Given the description of an element on the screen output the (x, y) to click on. 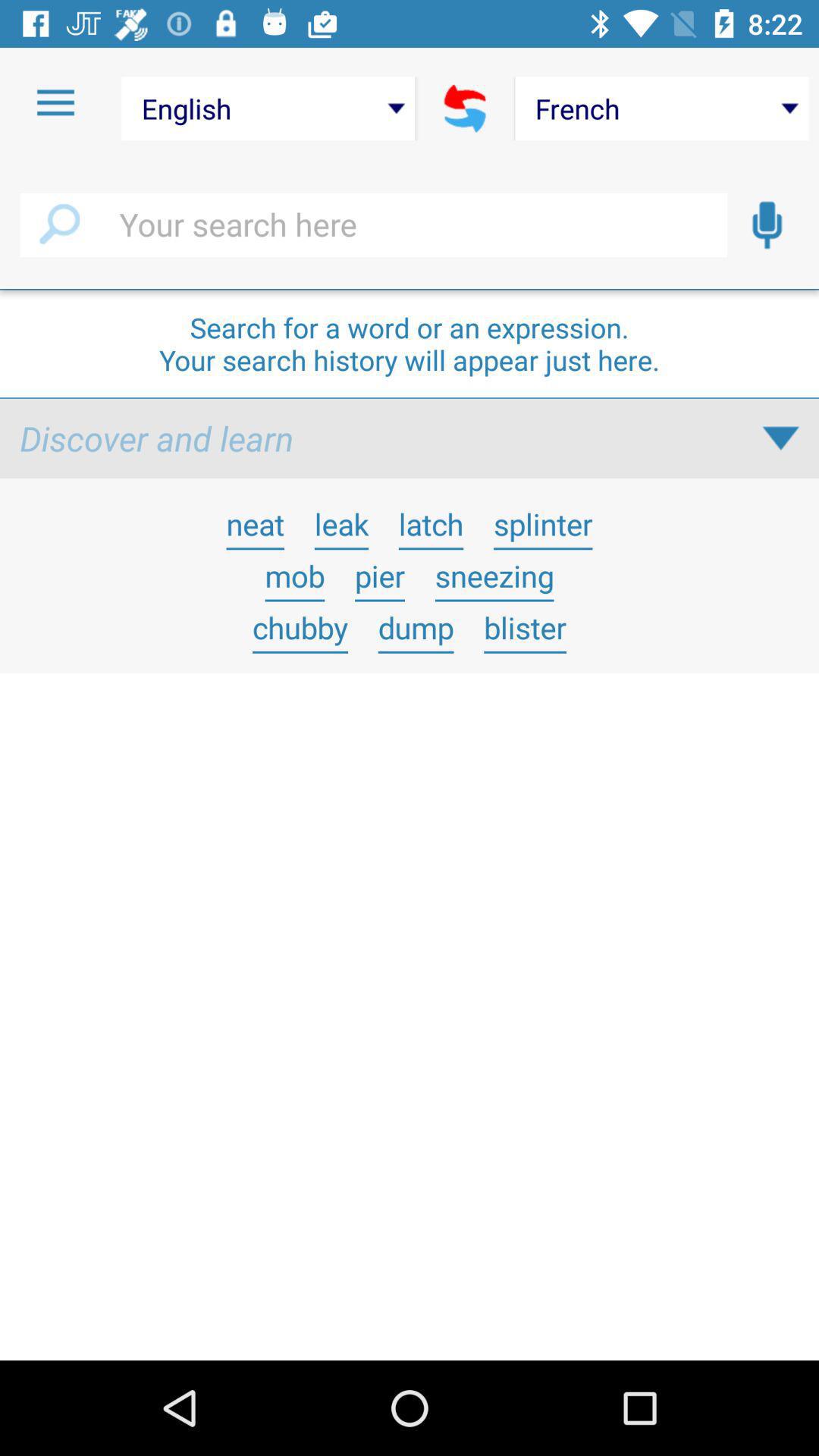
search bar (373, 225)
